Given the description of an element on the screen output the (x, y) to click on. 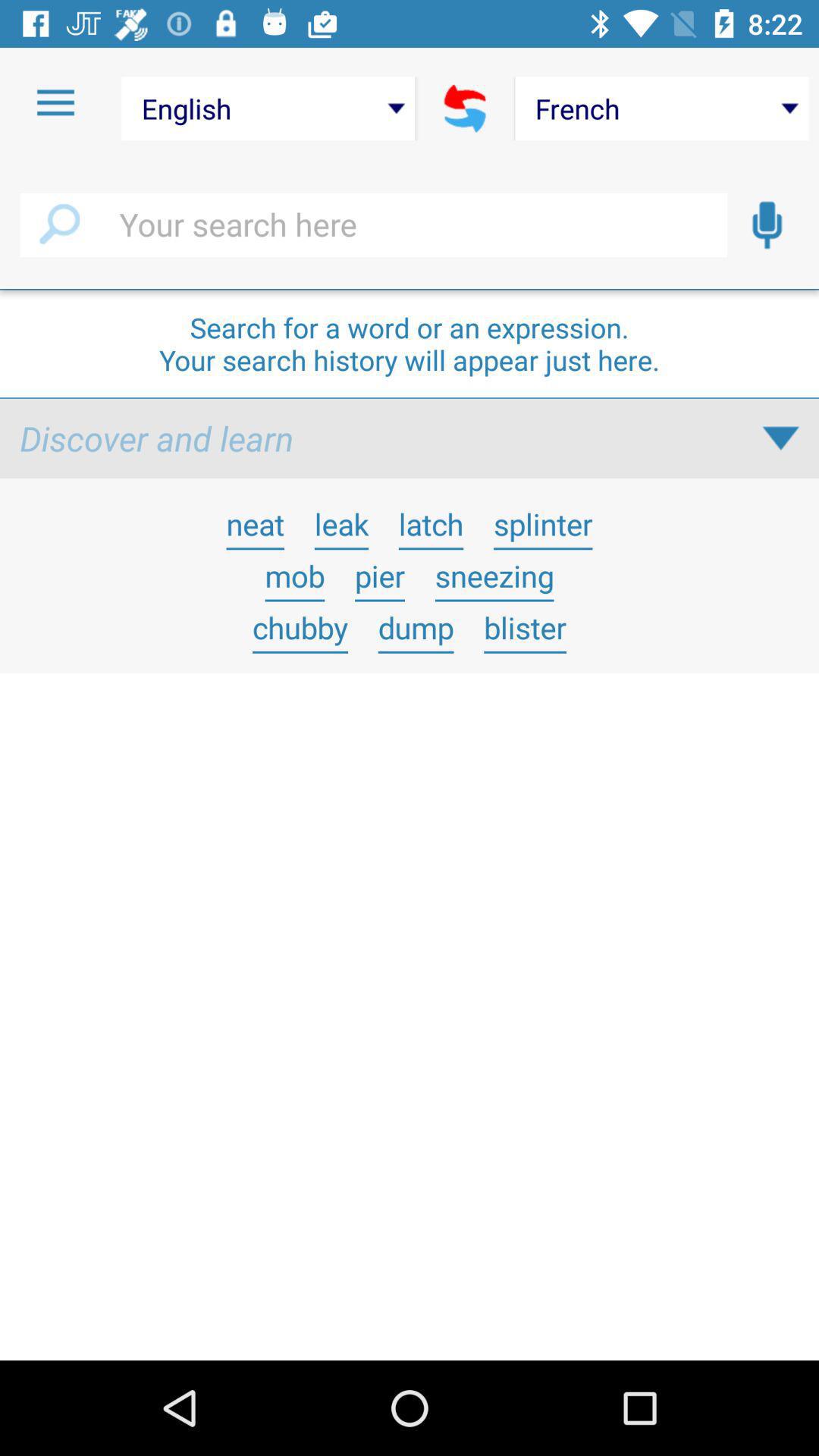
search bar (373, 225)
